Given the description of an element on the screen output the (x, y) to click on. 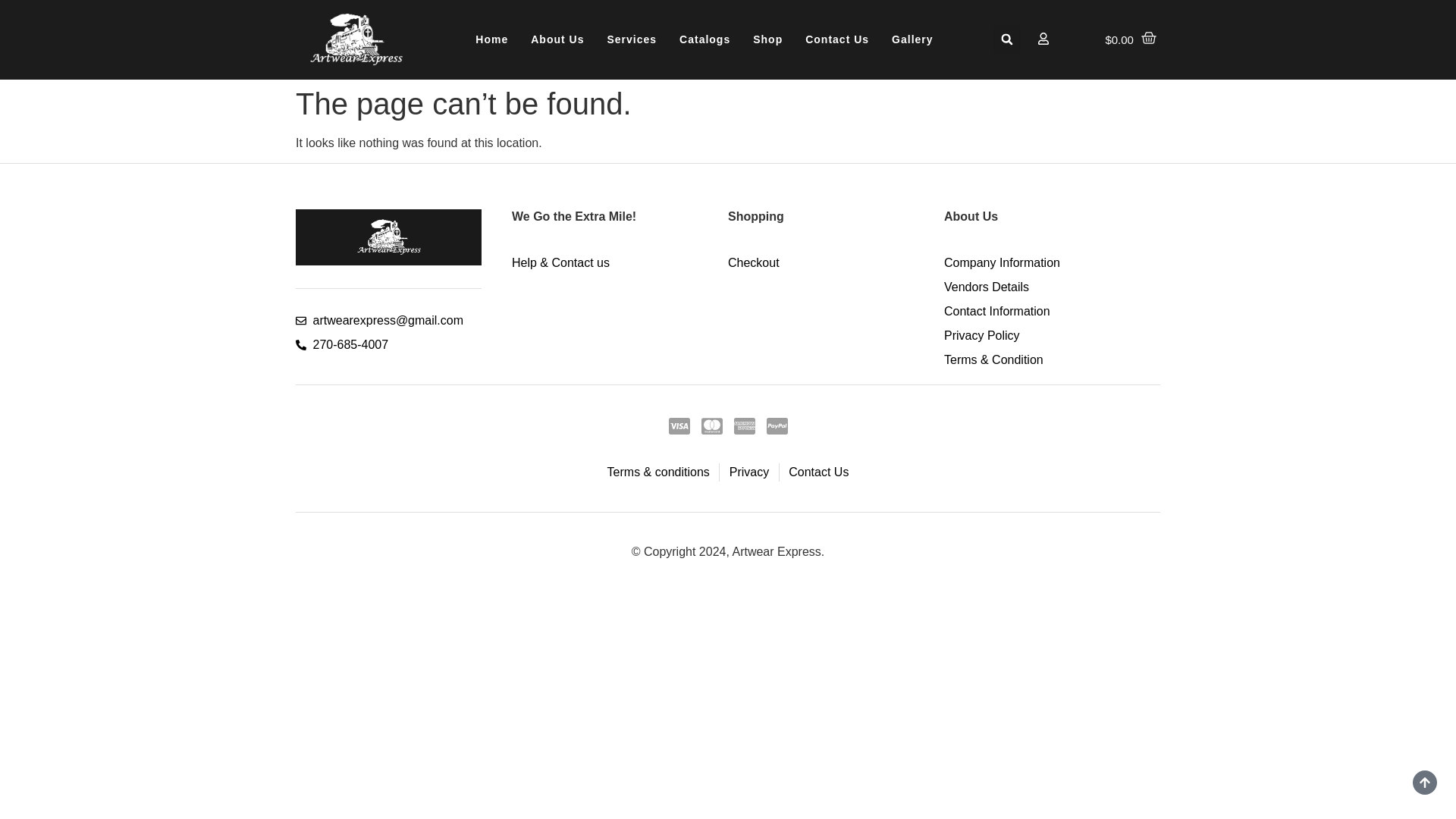
Shop (767, 39)
Home (491, 39)
Catalogs (704, 39)
Services (631, 39)
About Us (557, 39)
Contact Us (836, 39)
Gallery (911, 39)
